Given the description of an element on the screen output the (x, y) to click on. 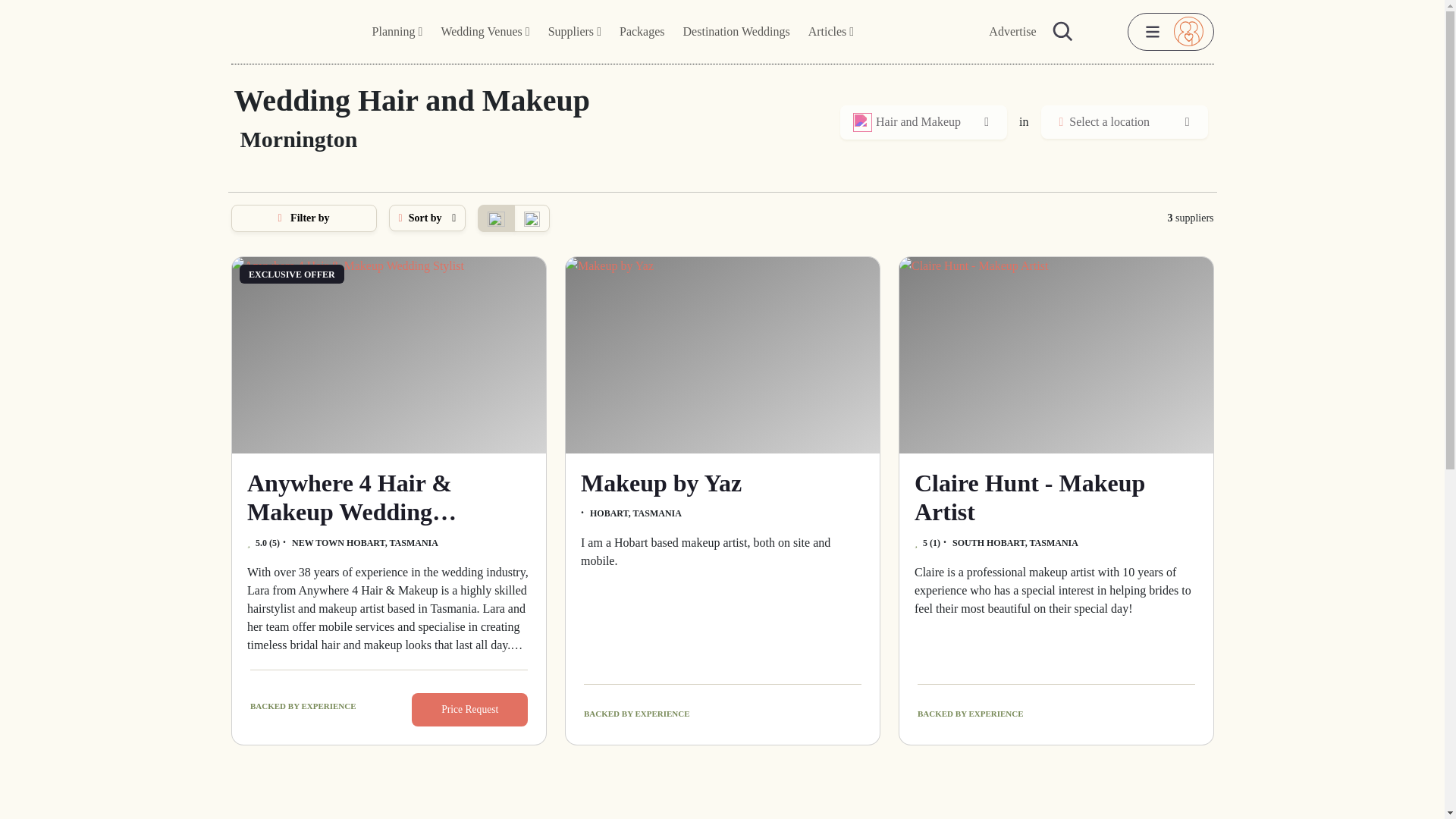
Articles (831, 31)
Makeup by Yaz (722, 355)
Suppliers (574, 31)
Claire Hunt - Makeup Artist (1055, 355)
Planning (397, 31)
Packages (641, 31)
Wedding Venues (484, 31)
Advertise (1012, 31)
Destination Weddings (736, 31)
